Given the description of an element on the screen output the (x, y) to click on. 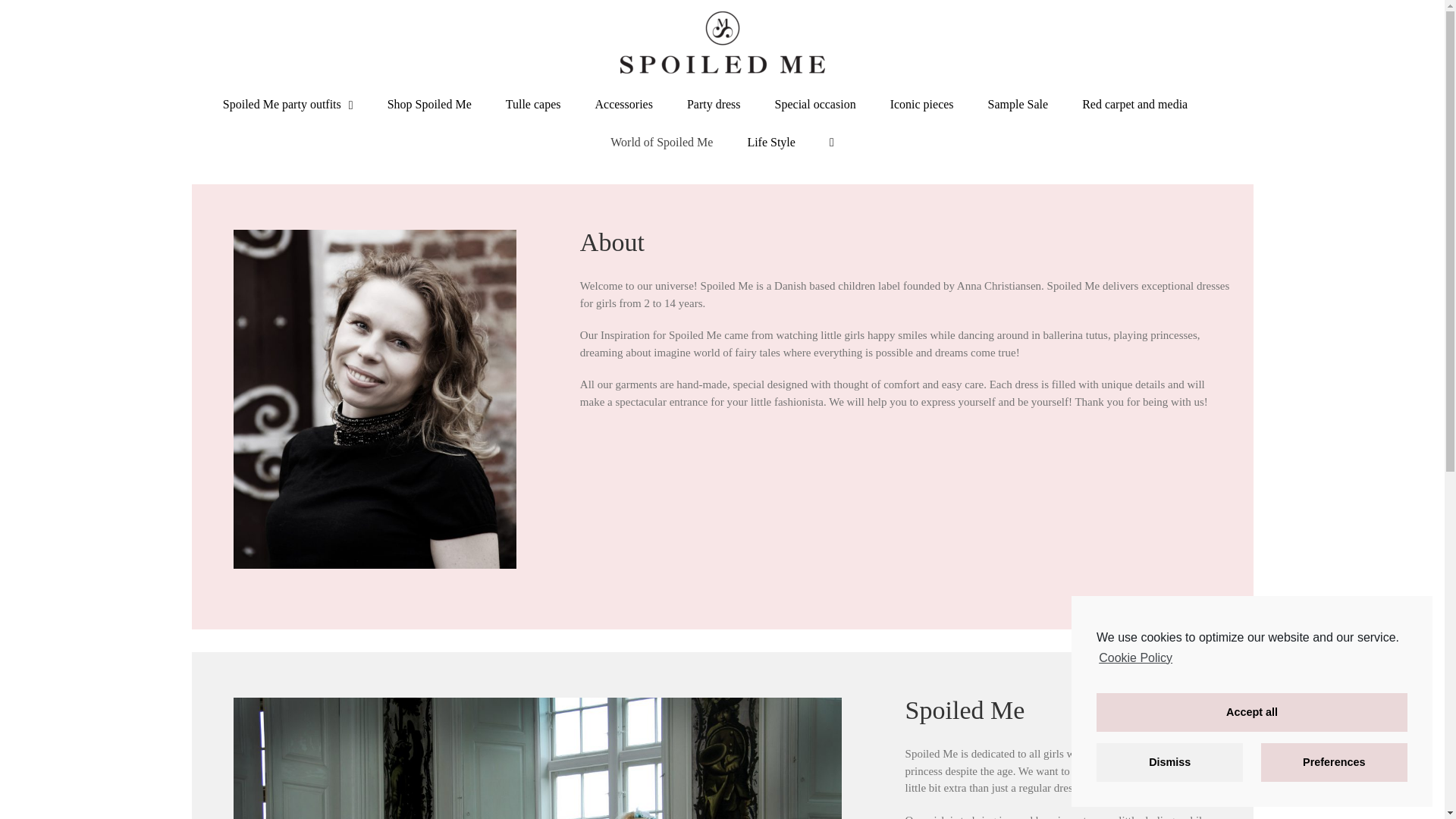
Iconic pieces (921, 104)
Shop Spoiled Me (429, 104)
Party dress (714, 104)
Red carpet and media (1134, 104)
Special occasion (815, 104)
Life Style (770, 142)
Spoiled Me party outfits (287, 104)
World of Spoiled Me (661, 142)
Sample Sale (1018, 104)
Tulle capes (532, 104)
Accessories (623, 104)
